Given the description of an element on the screen output the (x, y) to click on. 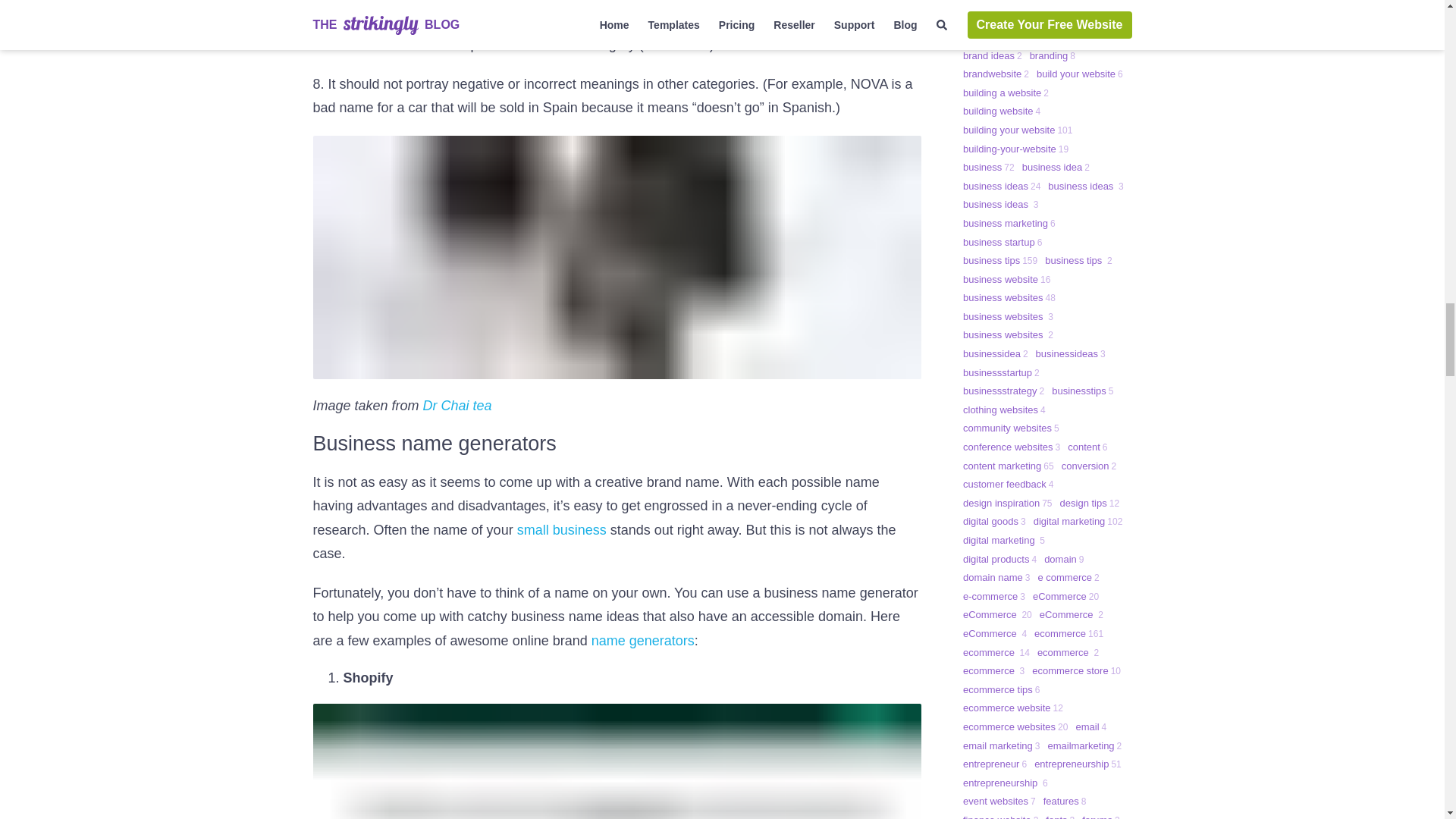
small business (561, 529)
Dr Chai tea (457, 404)
name generators (642, 640)
